Given the description of an element on the screen output the (x, y) to click on. 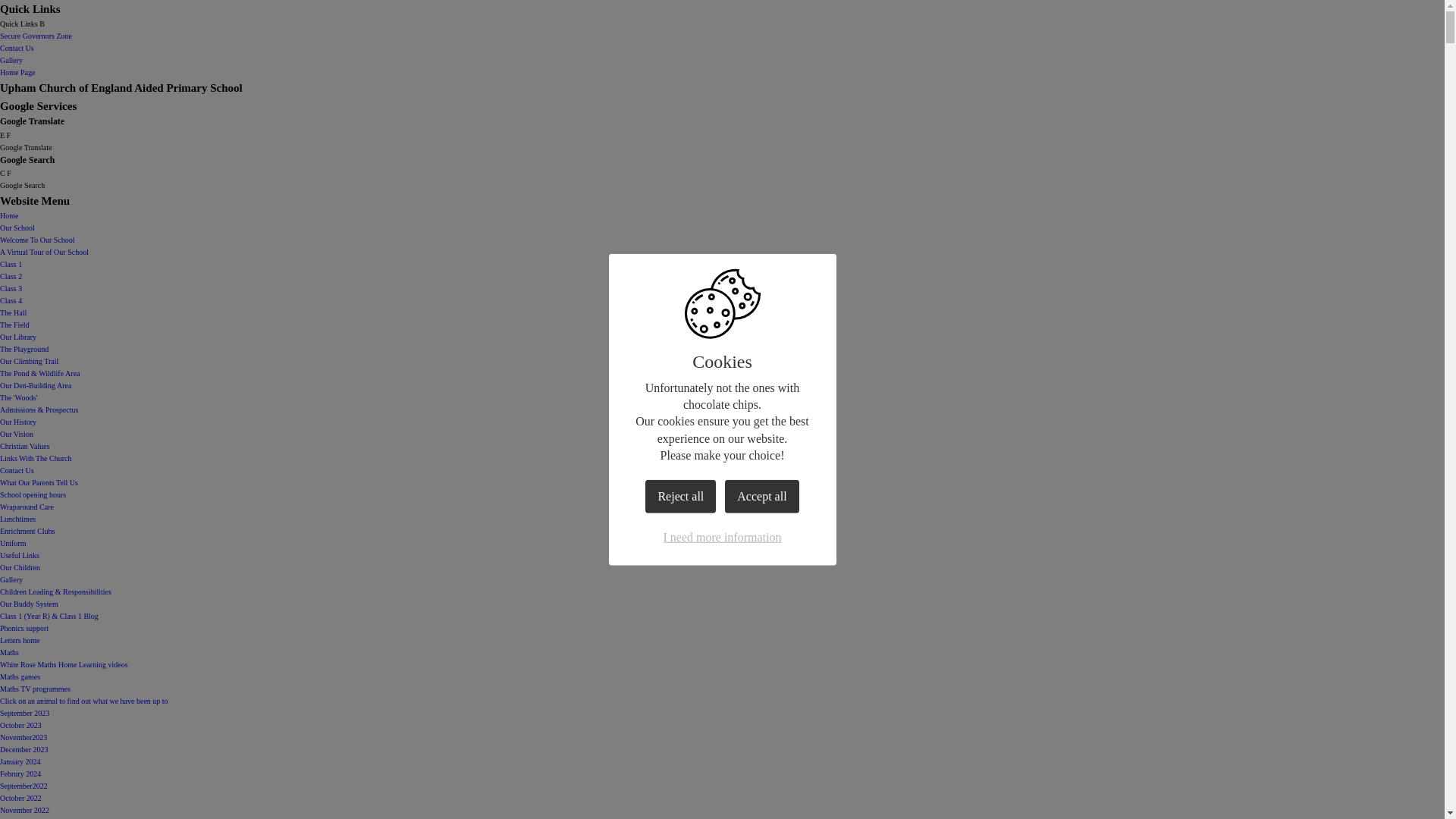
Lunchtimes (17, 519)
School opening hours (32, 494)
Phonics support (24, 628)
A Virtual Tour of Our School (44, 252)
Our Climbing Trail (29, 361)
Enrichment Clubs (27, 531)
Uniform (13, 542)
Our School (17, 227)
Useful Links (19, 555)
The 'Woods' (18, 397)
Contact Us (16, 48)
Class 2 (10, 275)
Secure Governors Zone (35, 35)
The Playground (24, 348)
What Our Parents Tell Us (39, 482)
